Given the description of an element on the screen output the (x, y) to click on. 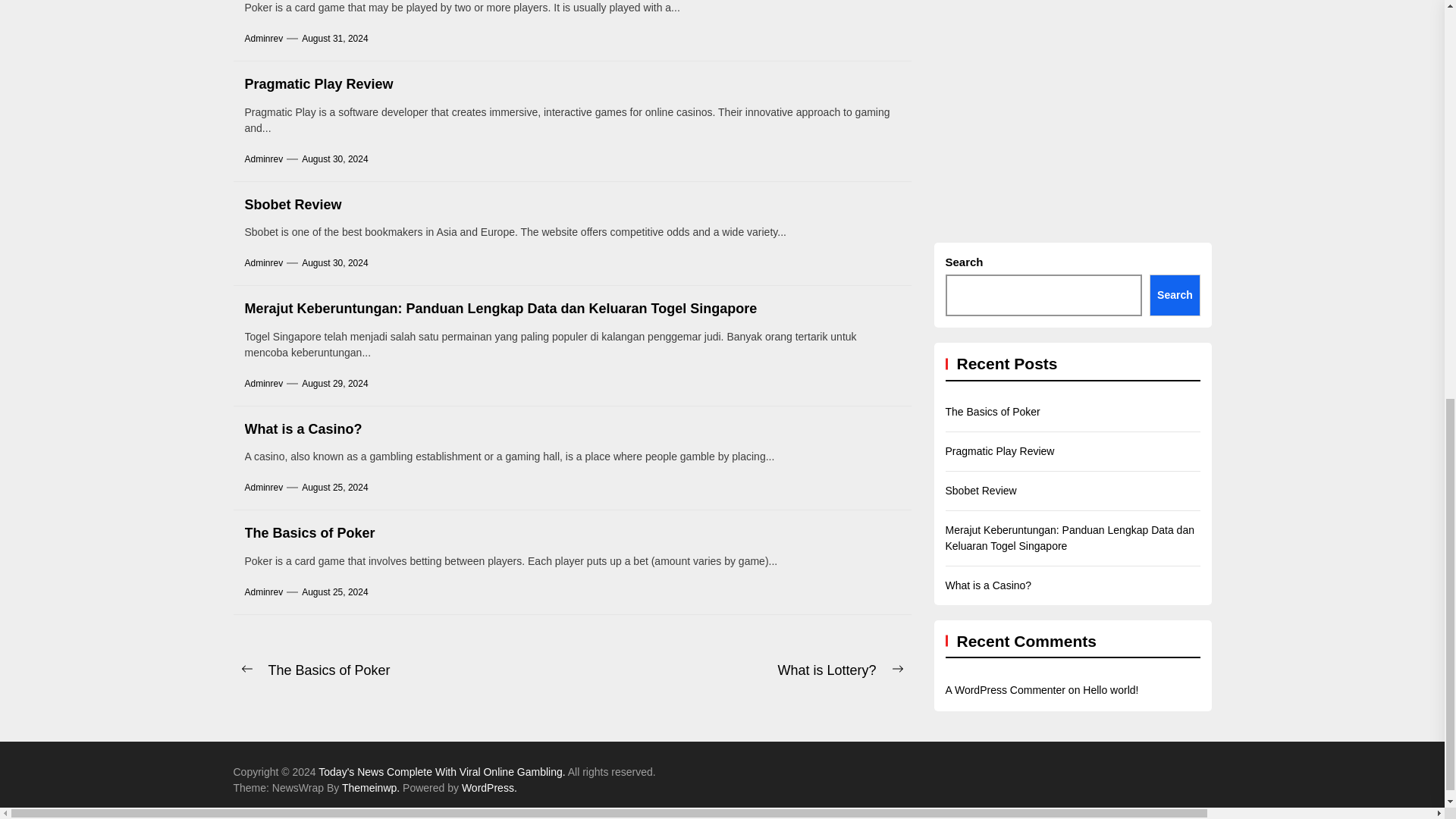
November 2022 (1439, 135)
December 2022 (1439, 95)
February 2023 (1439, 17)
January 2023 (1439, 56)
October 2022 (1439, 174)
July 2022 (1439, 213)
Today's News Complete With Viral Online Gambling (442, 771)
